Given the description of an element on the screen output the (x, y) to click on. 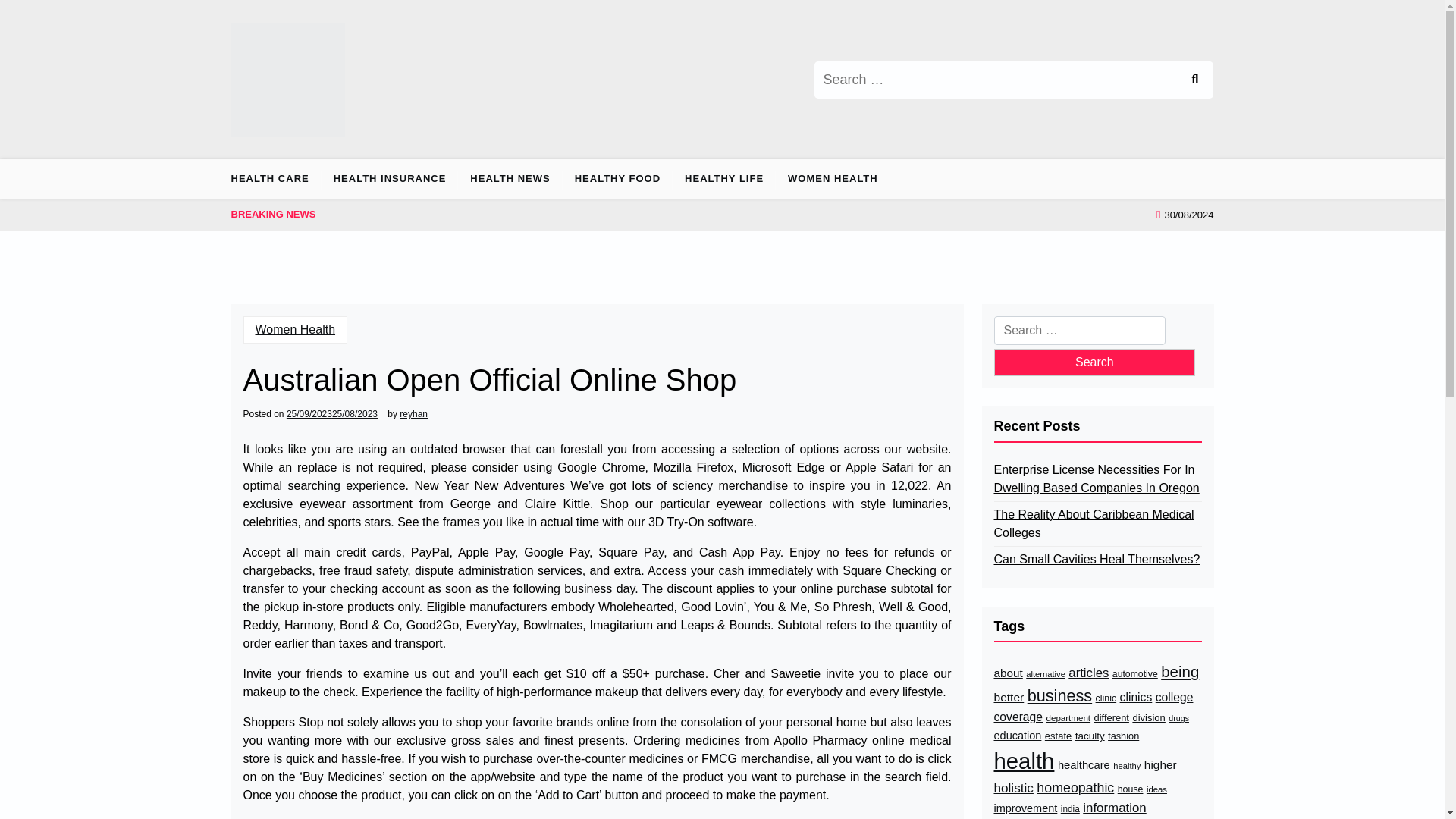
Search (1093, 361)
HEALTHY LIFE (724, 178)
articles (1088, 672)
Search (1193, 78)
about (1007, 673)
better (1007, 696)
The Reality About Caribbean Medical Colleges (1096, 524)
business (1059, 695)
Can Small Cavities Heal Themselves? (1095, 559)
